Given the description of an element on the screen output the (x, y) to click on. 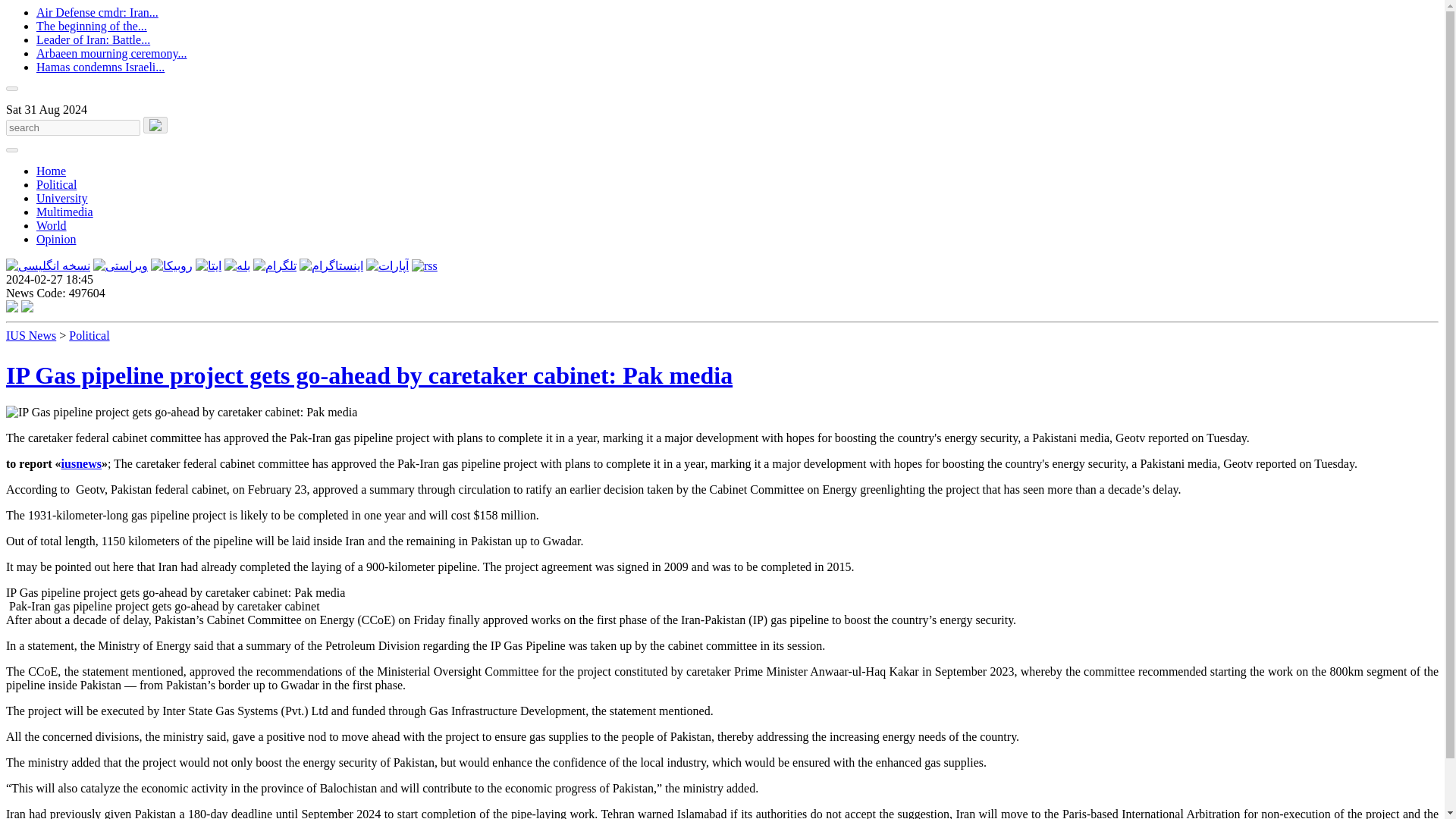
Home (50, 170)
Leader of Iran: Battle... (92, 39)
University (61, 197)
Multimedia (64, 211)
Arbaeen mourning ceremony... (111, 52)
Political (56, 184)
Hamas condemns Israeli... (100, 66)
Air Defense cmdr: Iran... (97, 11)
World (51, 225)
